Given the description of an element on the screen output the (x, y) to click on. 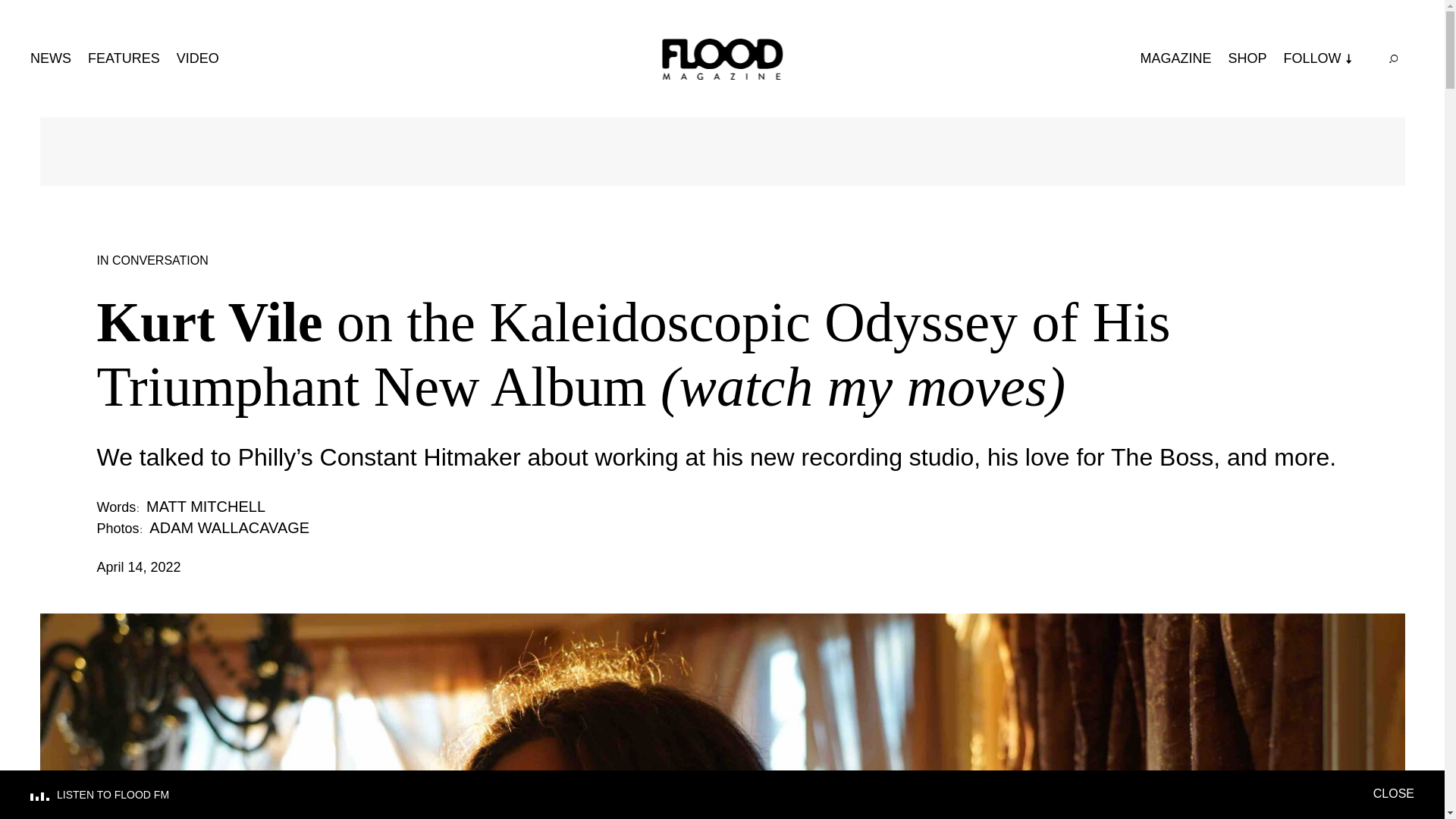
MAGAZINE (1175, 58)
VIDEO (197, 58)
SHOP (1246, 58)
NEWS (50, 58)
LISTEN TO FLOOD FM (701, 794)
MATT MITCHELL (205, 506)
FEATURES (123, 58)
